Given the description of an element on the screen output the (x, y) to click on. 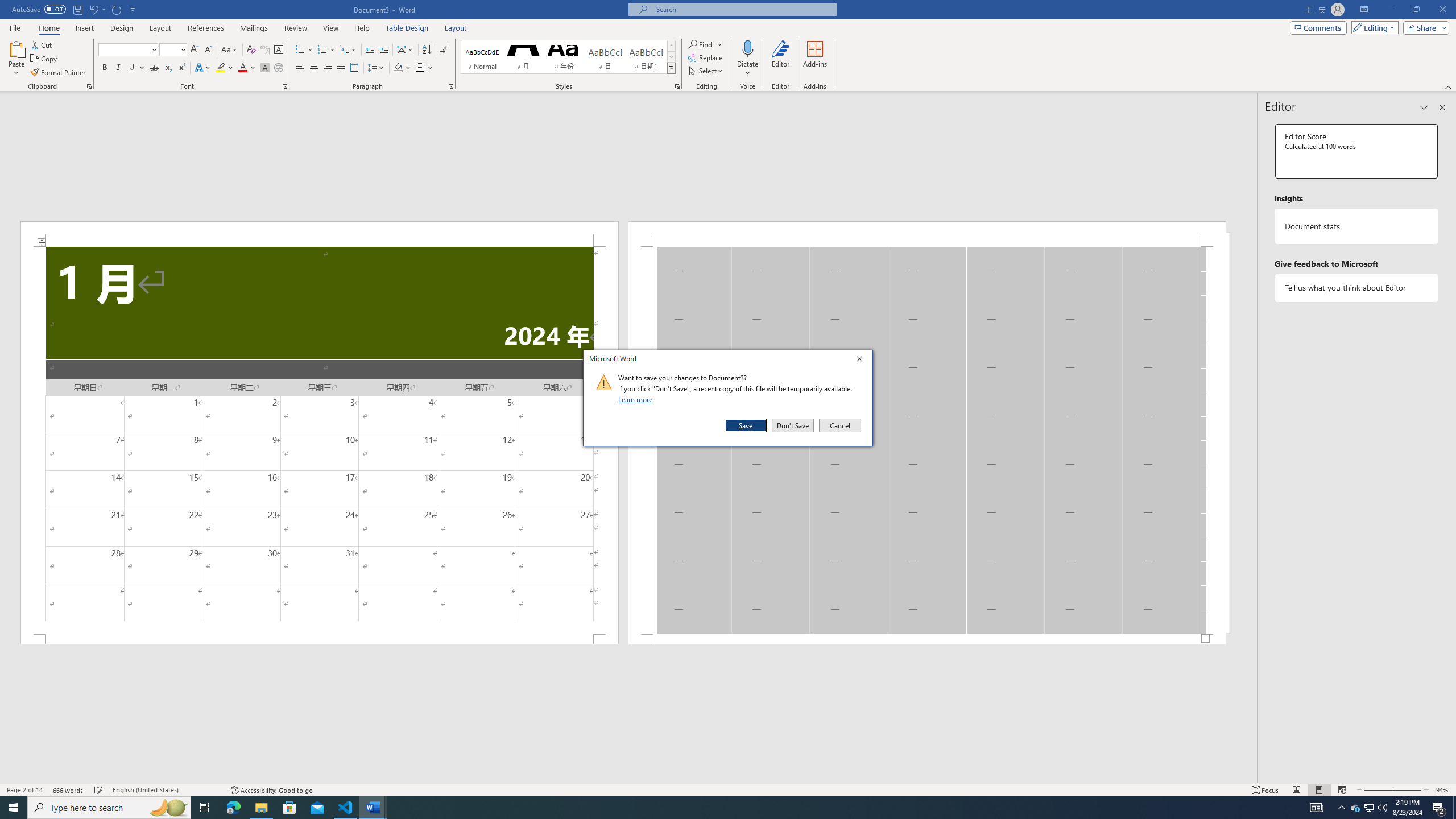
Q2790: 100% (1382, 807)
Action Center, 2 new notifications (1439, 807)
Type here to search (108, 807)
Microsoft Store (289, 807)
Help (361, 28)
Collapse the Ribbon (1448, 86)
Comments (1318, 27)
User Promoted Notification Area (1368, 807)
Paste (16, 58)
Repeat Doc Close (117, 9)
Text Effects and Typography (202, 67)
Paste (1355, 807)
Italic (16, 48)
